Given the description of an element on the screen output the (x, y) to click on. 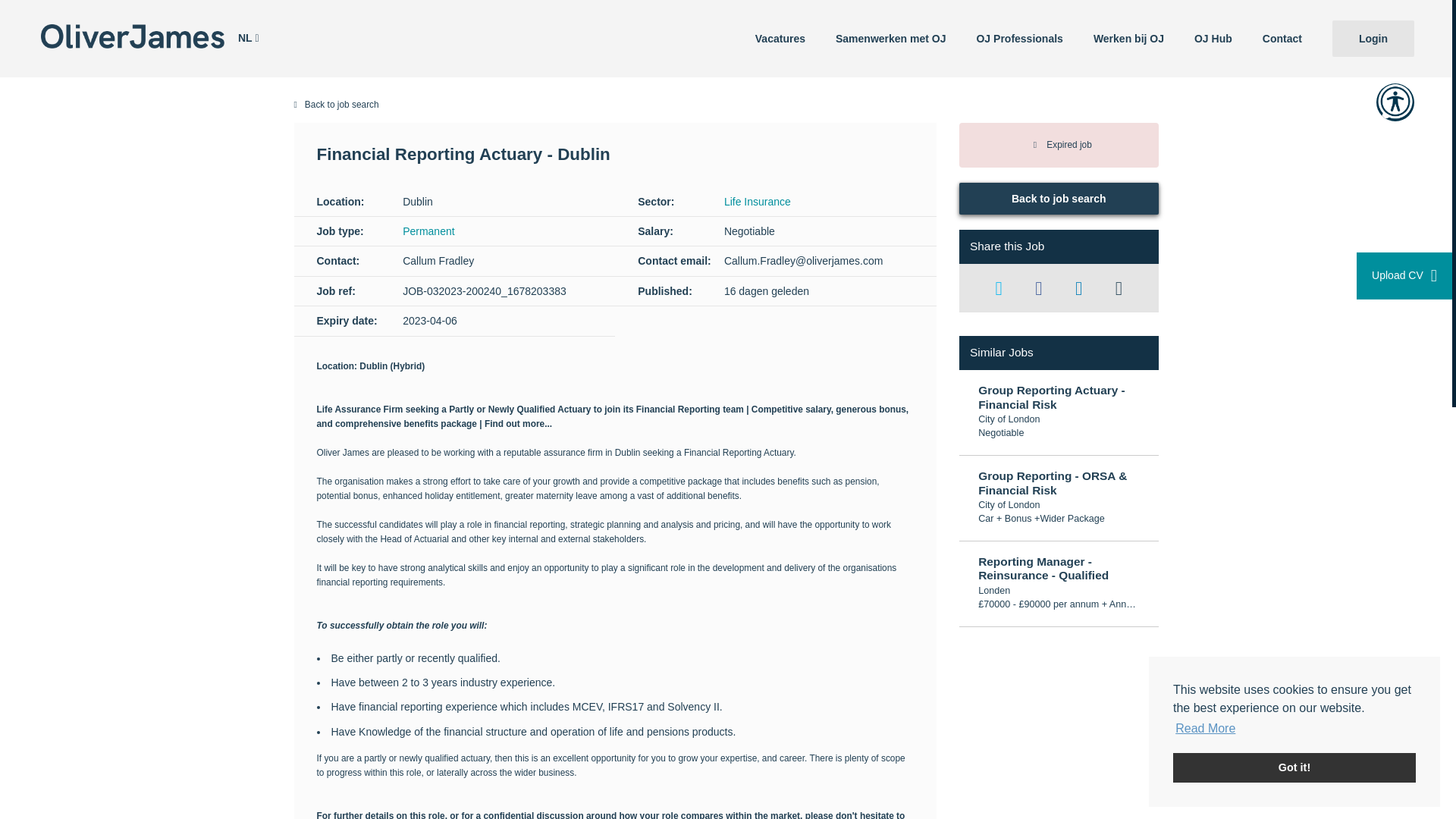
Back to job search (1058, 198)
Samenwerken met OJ (890, 38)
Got it! (1294, 767)
Upload CV (1404, 275)
Vacatures (780, 38)
Login (1372, 38)
OJ Professionals (1018, 38)
Read More (1206, 728)
Back to job search (726, 104)
Werken bij OJ (1128, 38)
Life Insurance (756, 201)
Permanent (428, 231)
Contact (1282, 38)
